Given the description of an element on the screen output the (x, y) to click on. 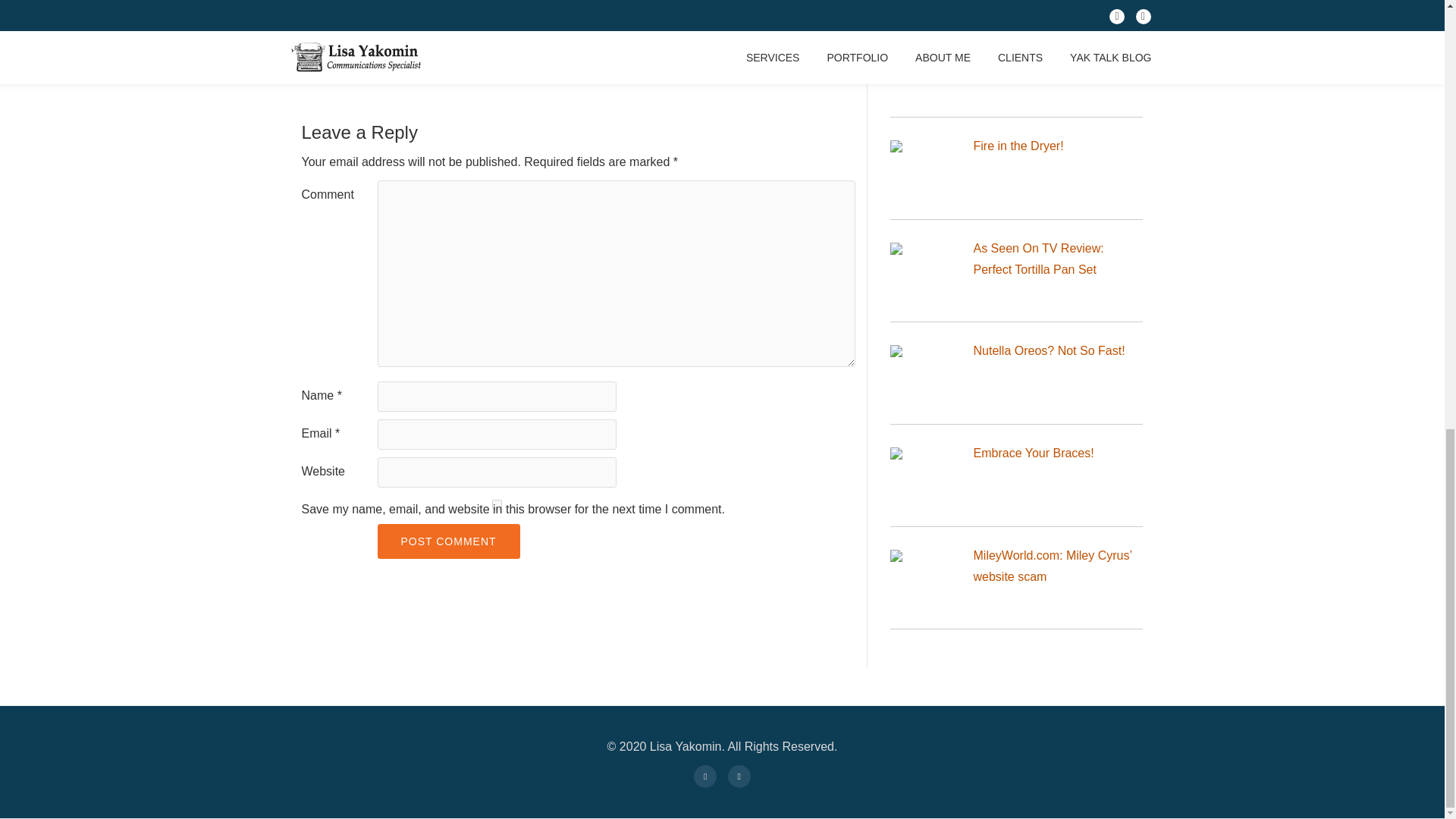
Fire in the Dryer! (1019, 145)
April 30, 2011 at 8:03 am (425, 36)
Shourya (395, 19)
Saturday, April 30, 2011, 8:03 am (425, 36)
Post Comment (448, 541)
yes (496, 504)
Post Comment (448, 541)
Saving Baby Birds (1023, 42)
Reply (829, 19)
